Given the description of an element on the screen output the (x, y) to click on. 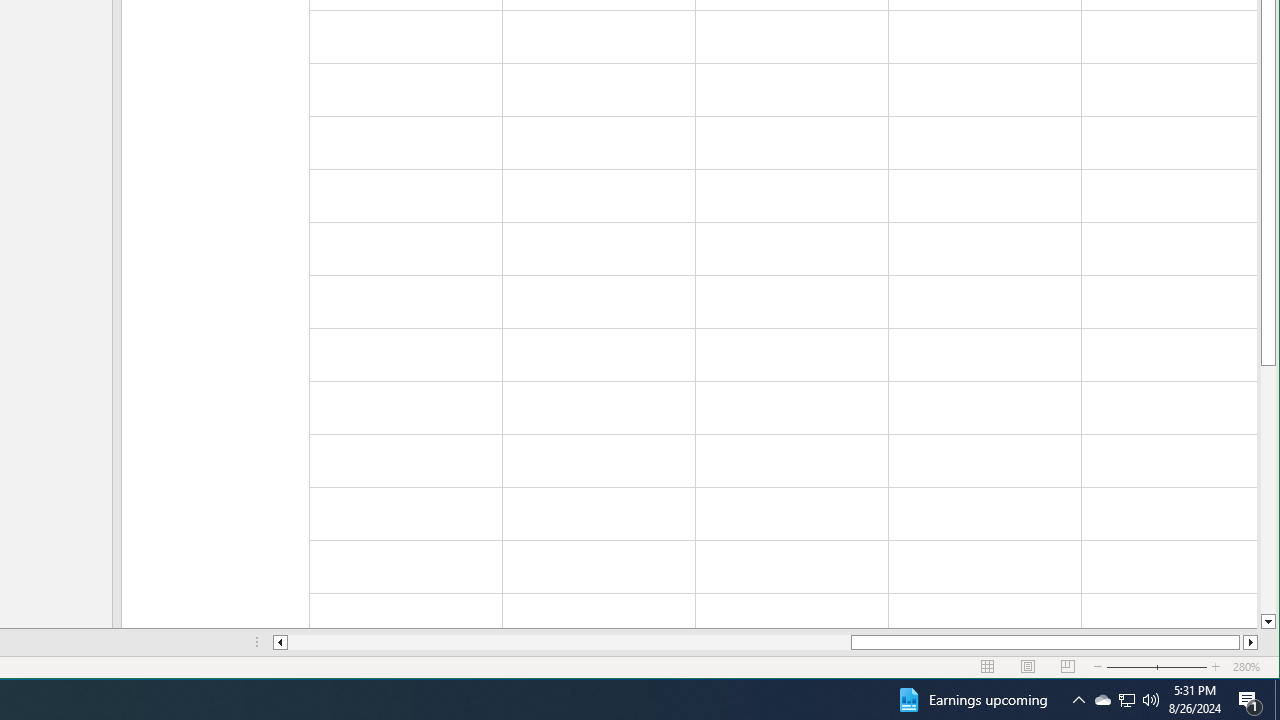
Action Center, 1 new notification (1102, 699)
Earnings upcoming (1250, 699)
Page left (971, 699)
User Promoted Notification Area (569, 642)
